Given the description of an element on the screen output the (x, y) to click on. 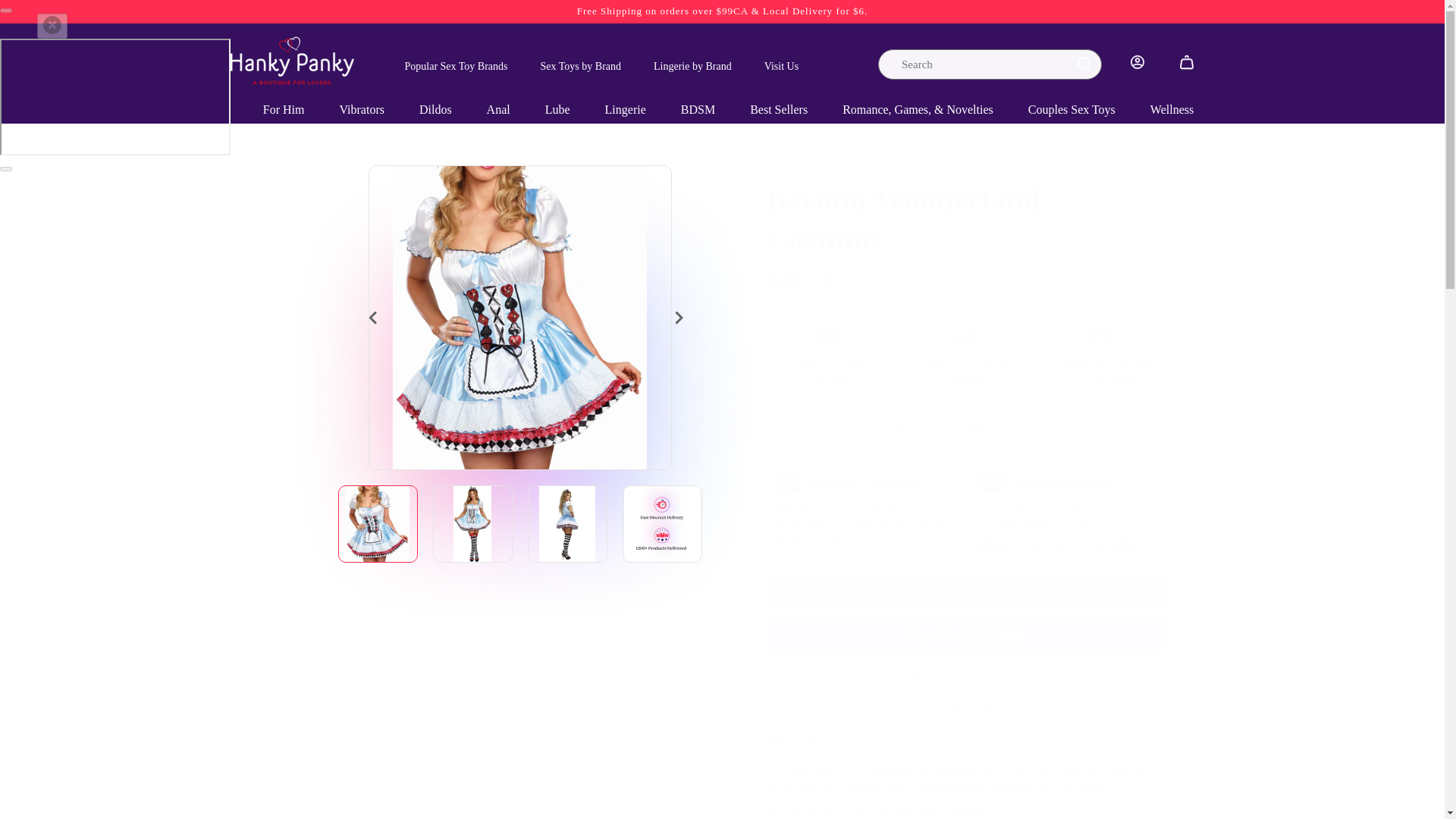
1 (820, 430)
Skip to content (45, 17)
